Given the description of an element on the screen output the (x, y) to click on. 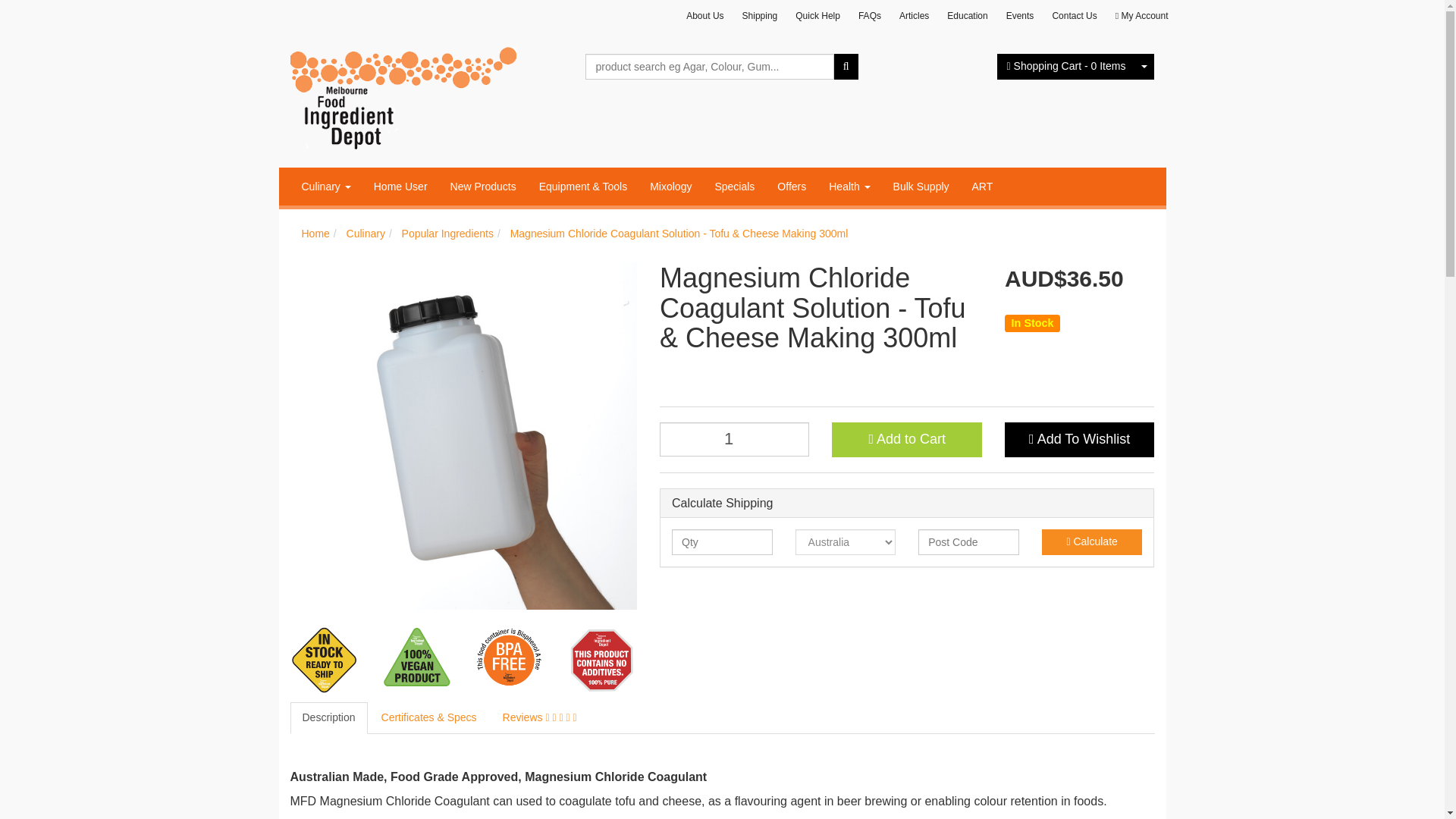
Home User (400, 186)
Large View (324, 659)
1 (734, 439)
New Products (483, 186)
Large View (416, 659)
Shopping Cart - 0 Items (1066, 66)
Education (966, 15)
Search (845, 66)
Shipping (760, 15)
My Account (1141, 15)
